Given the description of an element on the screen output the (x, y) to click on. 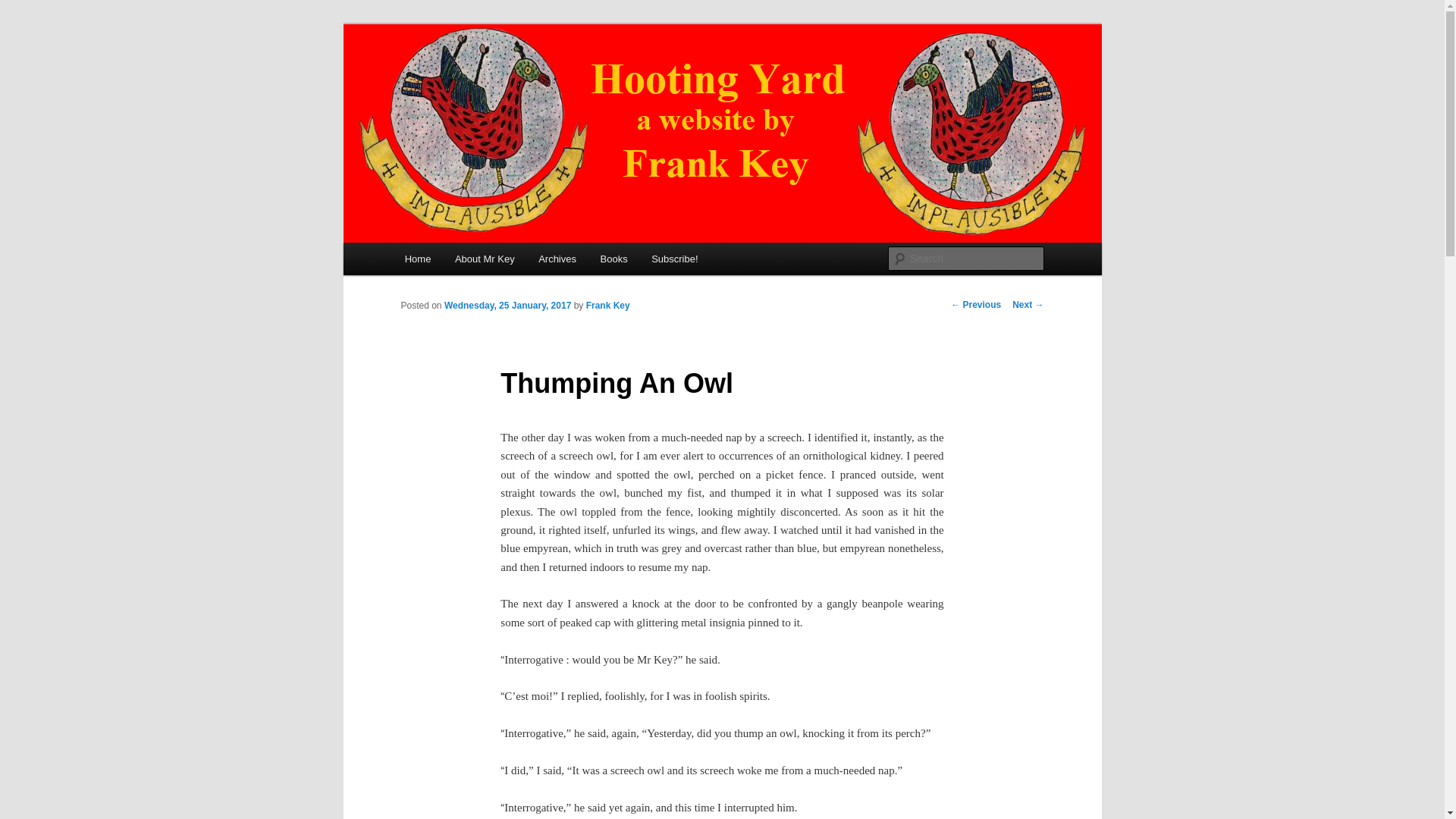
About Mr Key (483, 258)
5:41 pm (507, 305)
View all posts by Frank Key (608, 305)
Home (417, 258)
Frank Key (608, 305)
Archives (556, 258)
Wednesday, 25 January, 2017 (507, 305)
Subscribe! (674, 258)
Search (24, 8)
